Given the description of an element on the screen output the (x, y) to click on. 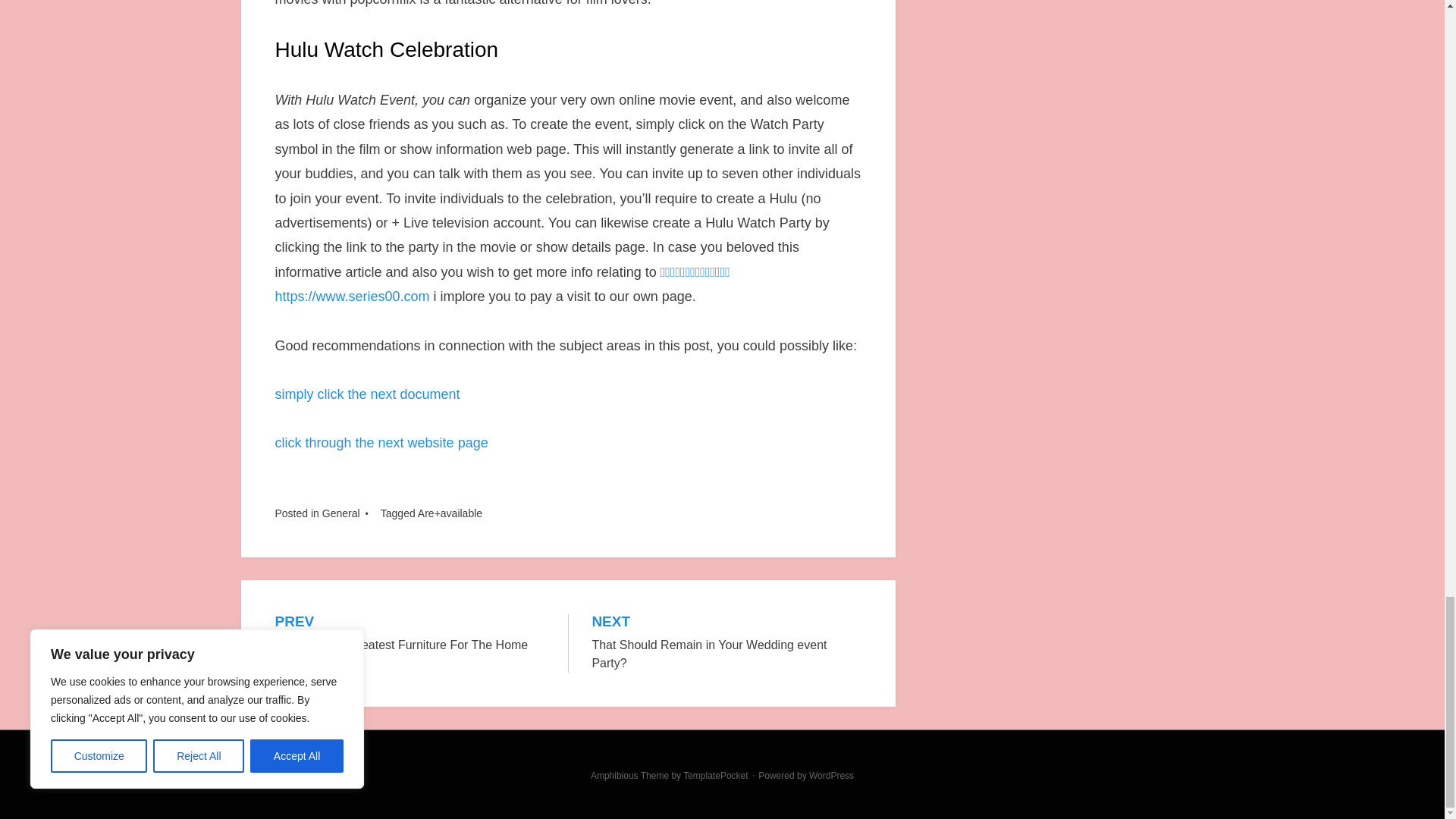
click through the next website page (409, 634)
General (726, 643)
TemplatePocket (381, 442)
WordPress (340, 512)
simply click the next document (715, 775)
